Given the description of an element on the screen output the (x, y) to click on. 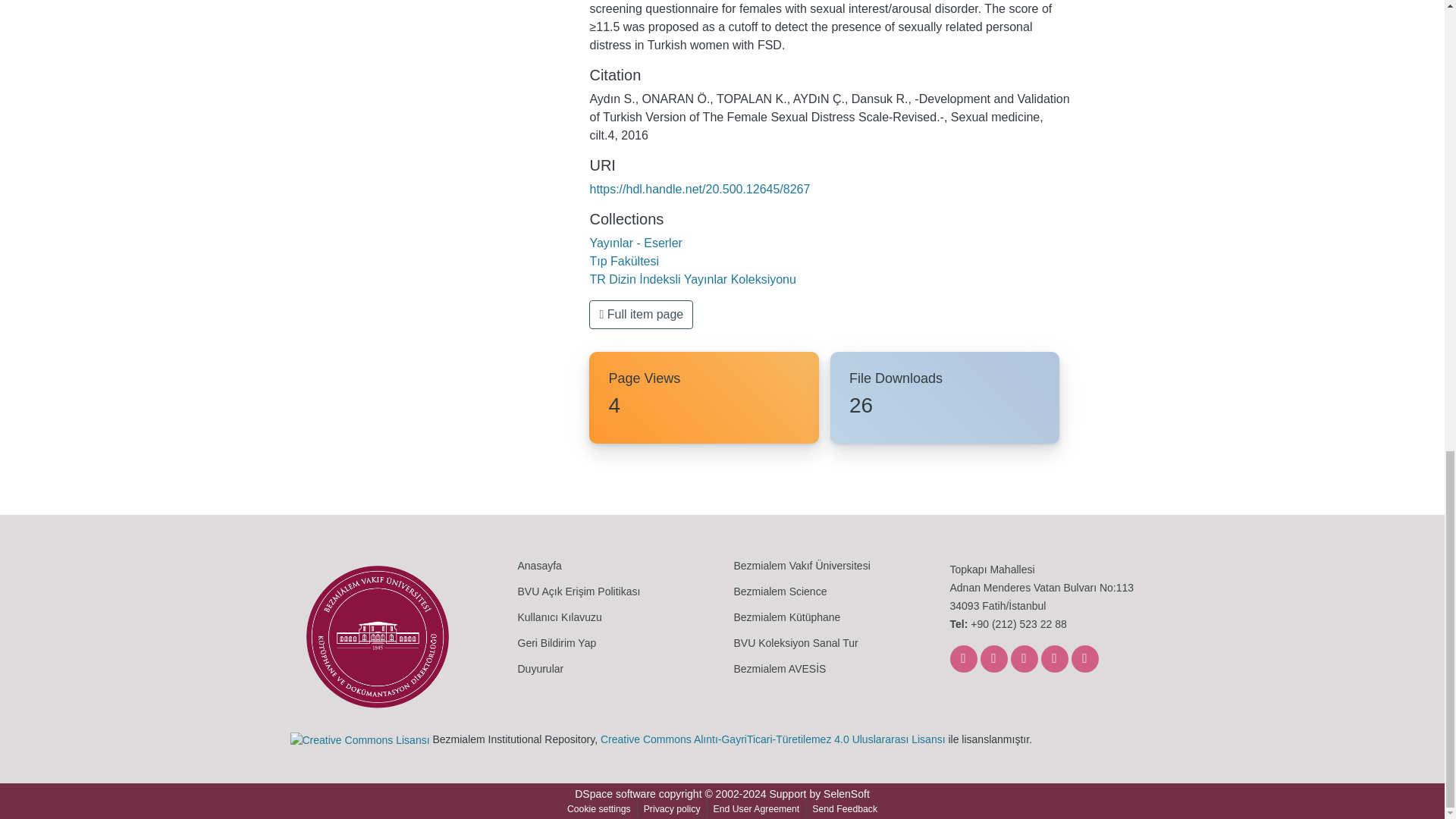
Duyurular (539, 668)
BVU Koleksiyon Sanal Tur (796, 643)
Anasayfa (538, 565)
Full item page (641, 314)
Geri Bildirim Yap (555, 643)
Bezmialem Science (780, 591)
